Given the description of an element on the screen output the (x, y) to click on. 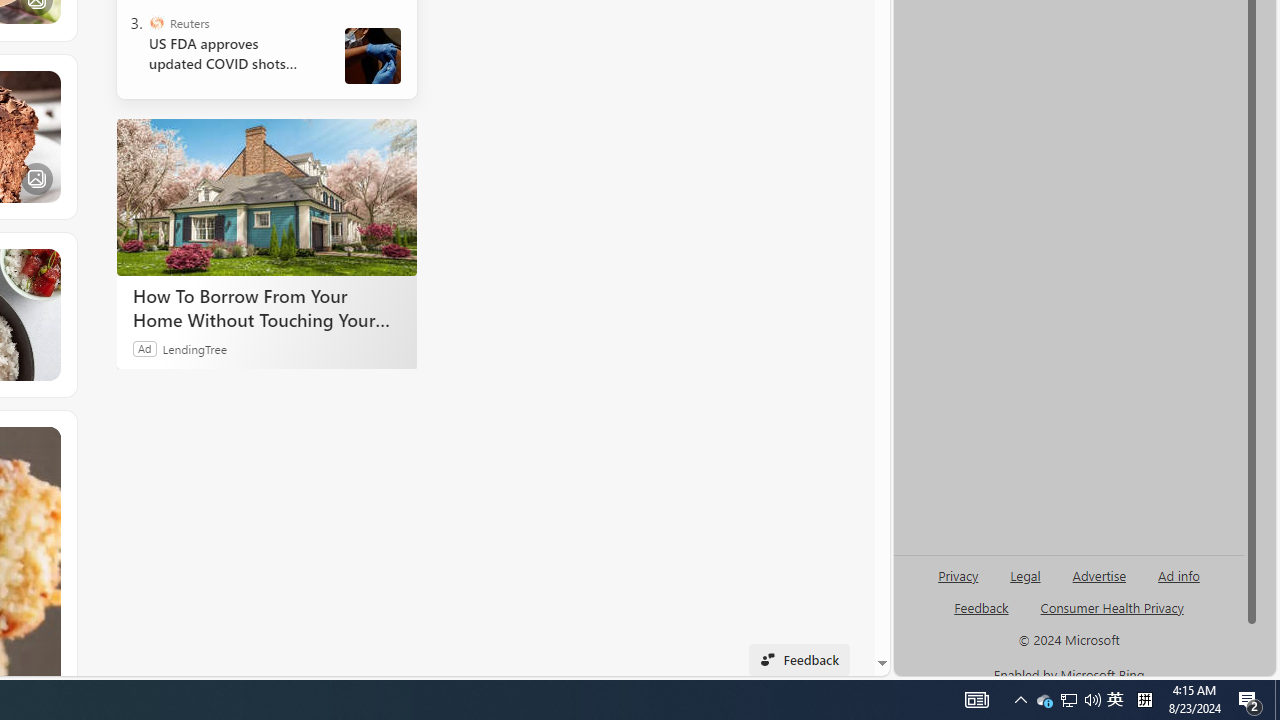
US FDA approves updated COVID shots ahead of fall and winter (230, 53)
LendingTree (194, 348)
AutomationID: genId96 (981, 615)
Reuters (156, 22)
AutomationID: sb_feedback (980, 607)
